Given the description of an element on the screen output the (x, y) to click on. 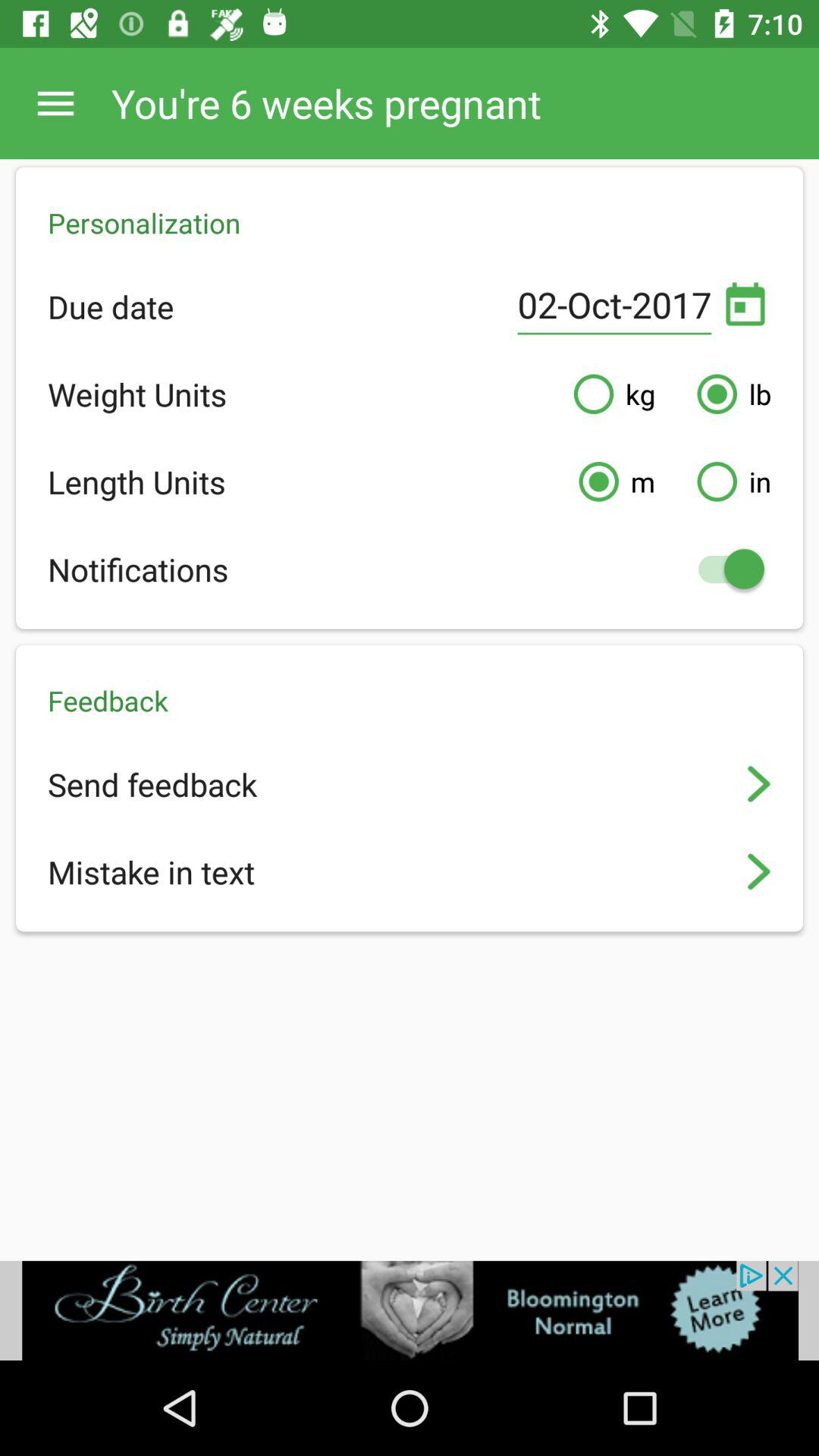
advertisement (409, 1310)
